Given the description of an element on the screen output the (x, y) to click on. 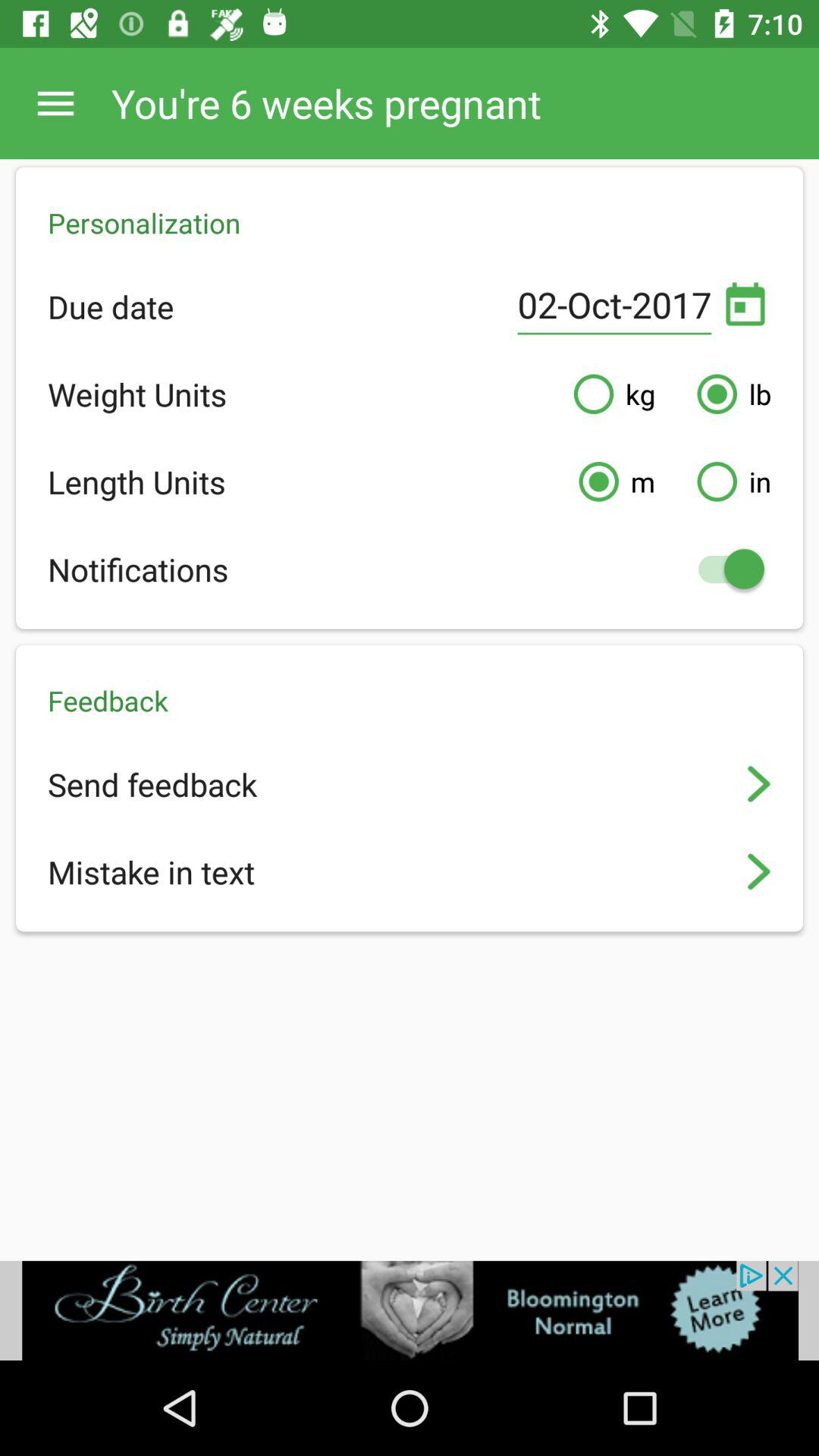
advertisement (409, 1310)
